Given the description of an element on the screen output the (x, y) to click on. 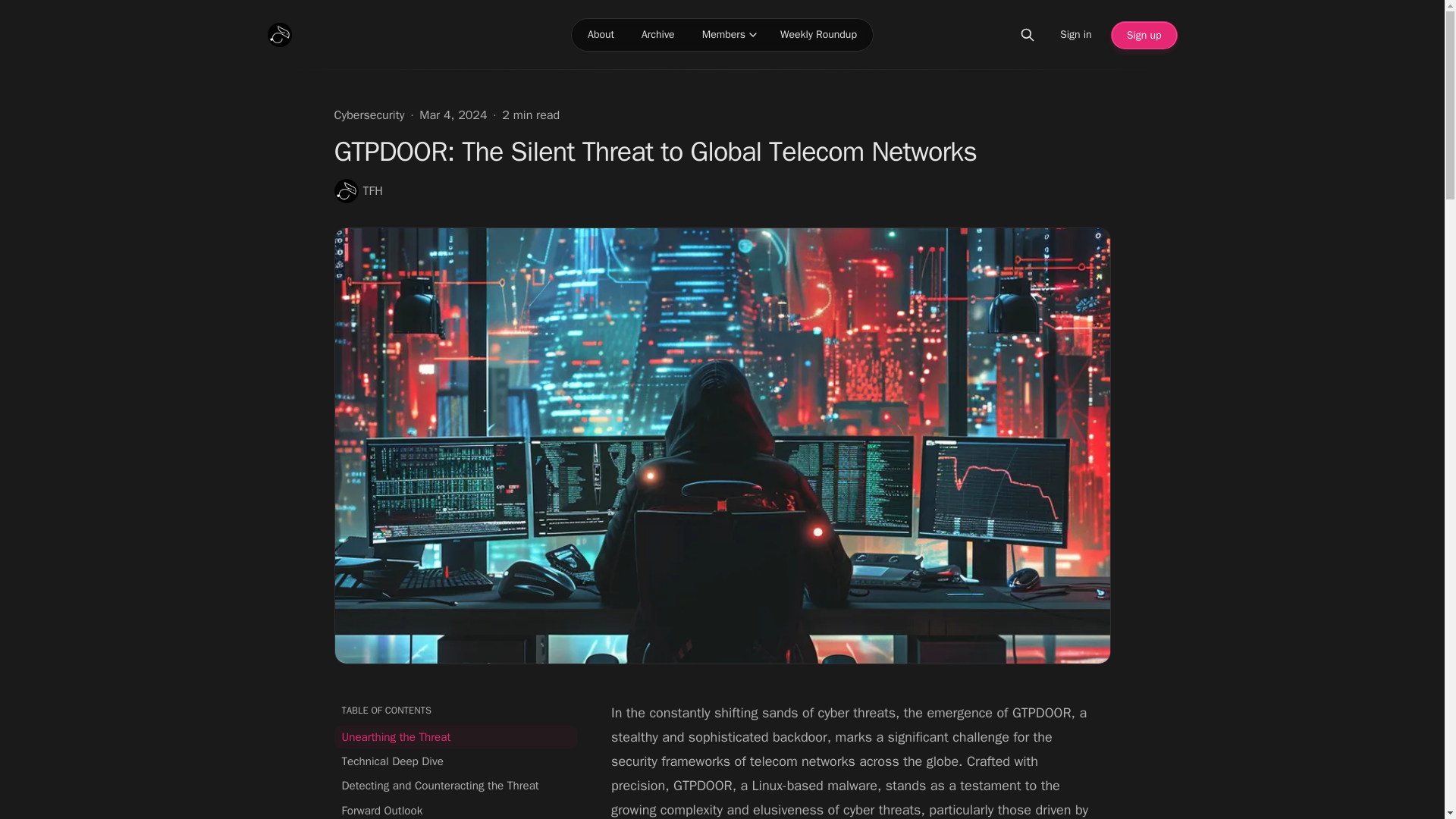
Detecting and Counteracting the Threat (454, 784)
Sign up (1143, 35)
Archive (657, 34)
TABLE OF CONTENTS (454, 710)
TFH (357, 191)
Forward Outlook (454, 809)
Members (717, 34)
Weekly Roundup (818, 34)
Unearthing the Threat (454, 736)
Technical Deep Dive (454, 761)
